Given the description of an element on the screen output the (x, y) to click on. 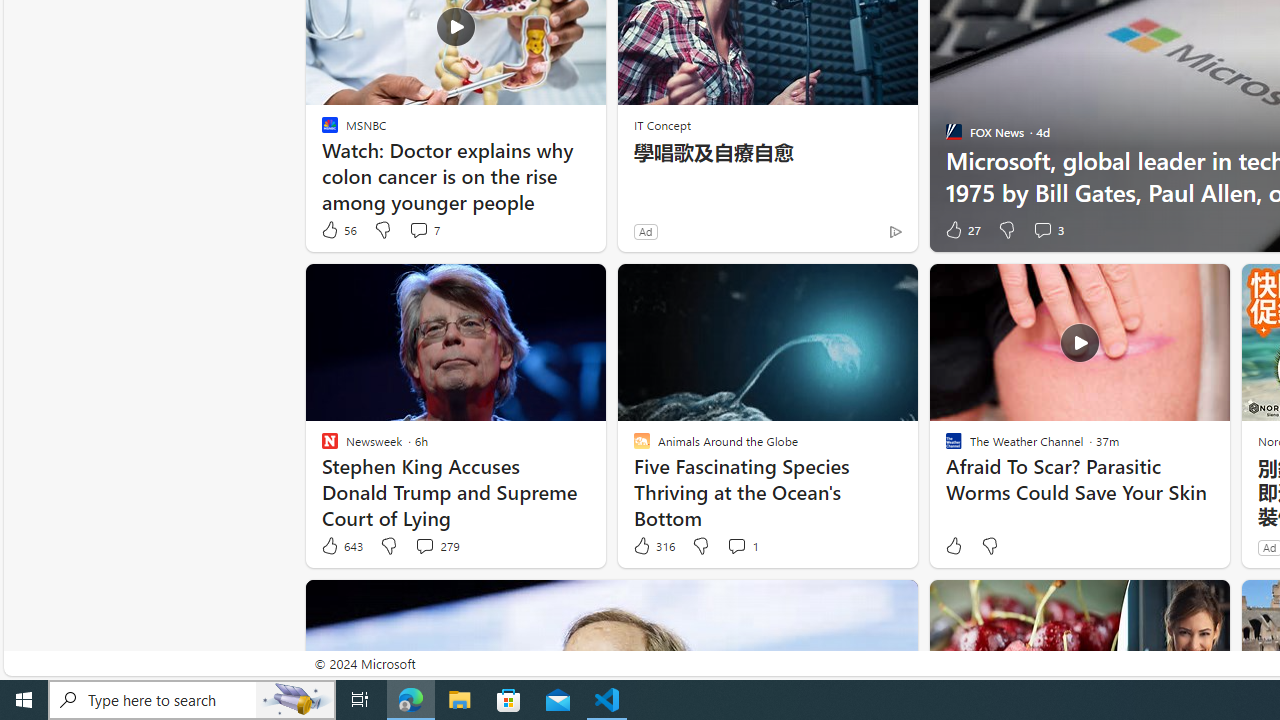
View comments 279 Comment (424, 545)
27 Like (961, 230)
643 Like (341, 546)
View comments 7 Comment (418, 229)
Like (952, 546)
View comments 3 Comment (1048, 230)
